Given the description of an element on the screen output the (x, y) to click on. 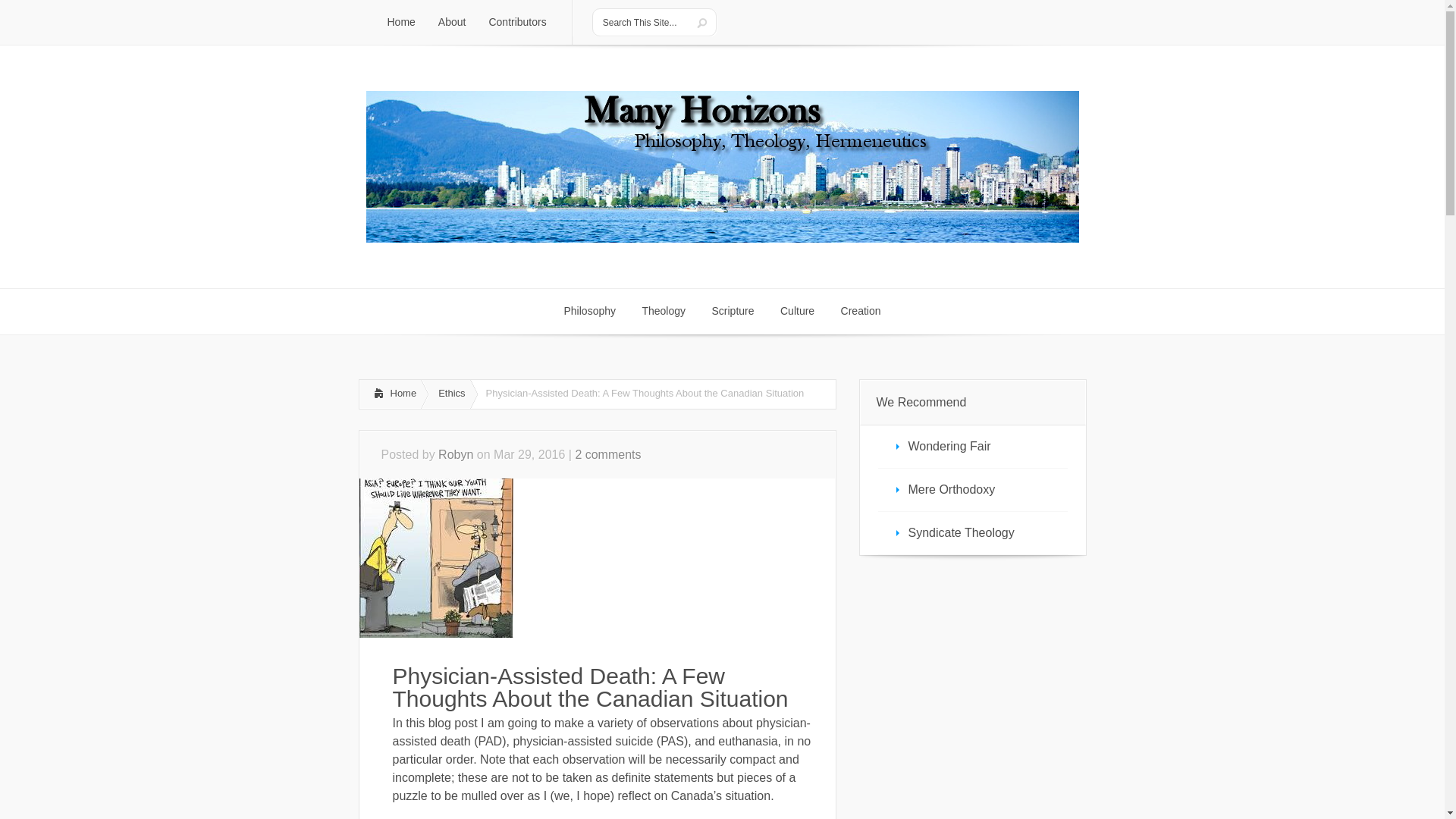
Culture (796, 311)
Robyn (455, 454)
Theology (663, 311)
About (451, 22)
2 comments (607, 454)
Philosophy (589, 311)
Posts by Robyn (455, 454)
Home (400, 22)
Home (389, 393)
Creation (860, 311)
Scripture (732, 311)
Ethics (448, 393)
Contributors (517, 22)
Search This Site... (641, 22)
